Given the description of an element on the screen output the (x, y) to click on. 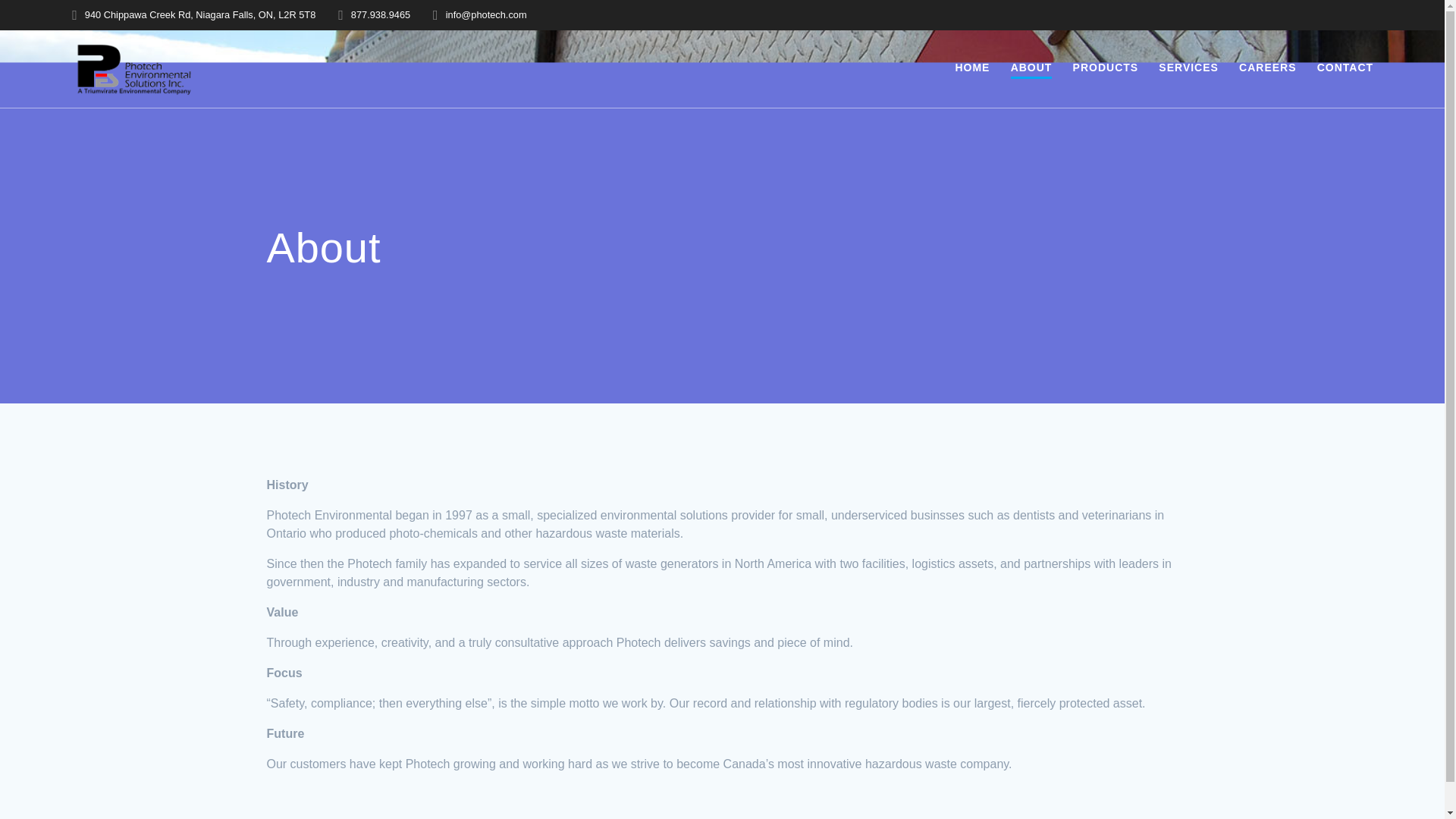
ABOUT (1031, 67)
SERVICES (1188, 67)
HOME (972, 67)
CONTACT (1345, 67)
CAREERS (1267, 67)
PRODUCTS (1105, 67)
